Given the description of an element on the screen output the (x, y) to click on. 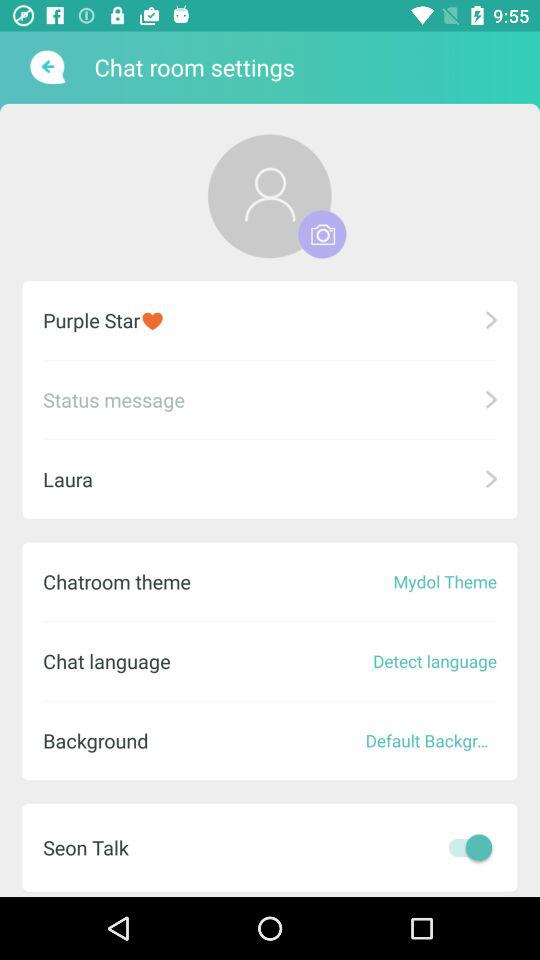
update profile picture (269, 195)
